Given the description of an element on the screen output the (x, y) to click on. 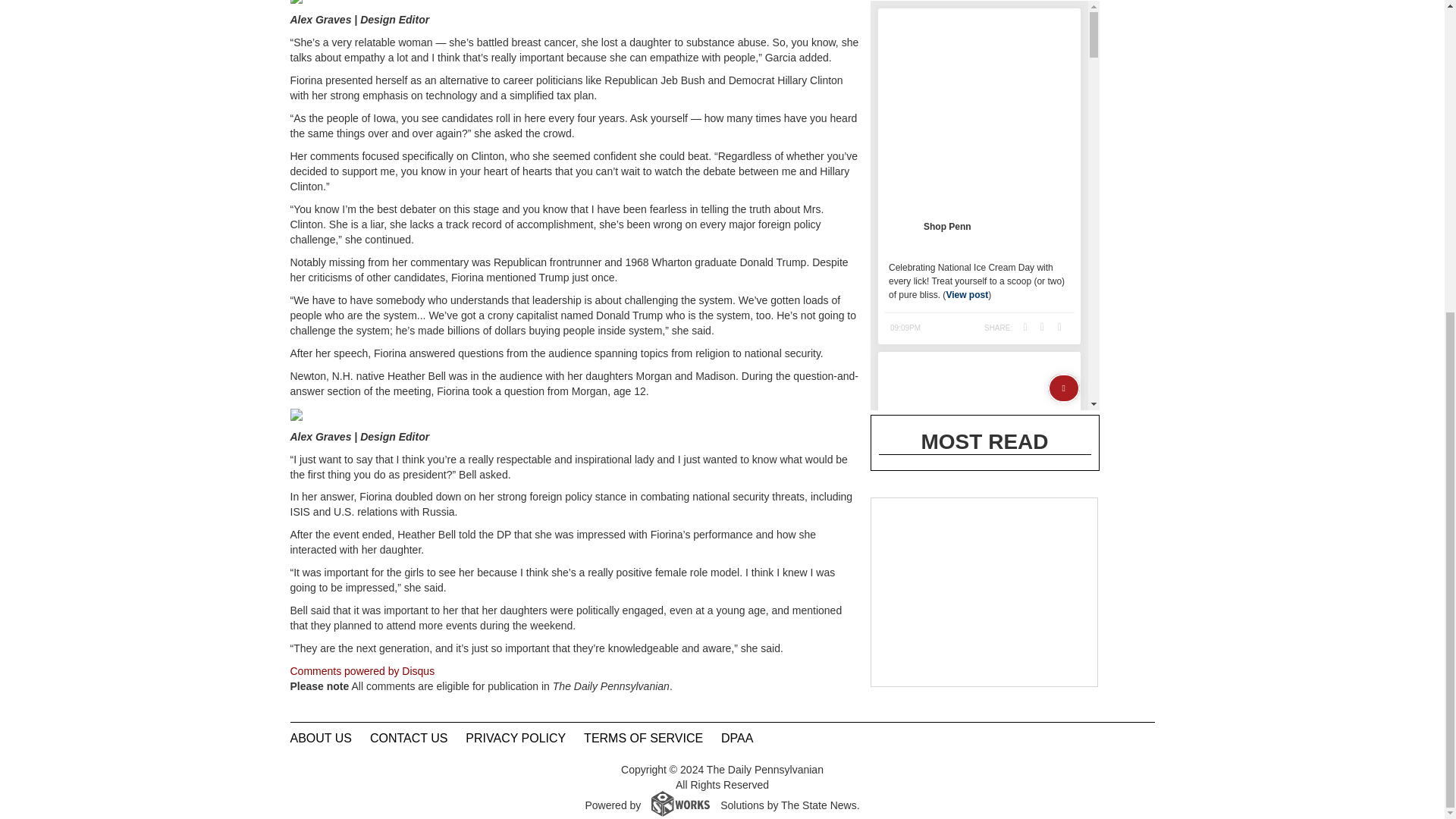
Comments powered by Disqus (361, 671)
CONTACT US (408, 738)
PRIVACY POLICY (515, 738)
DPAA (736, 738)
ABOUT US (320, 738)
TERMS OF SERVICE (643, 738)
